Given the description of an element on the screen output the (x, y) to click on. 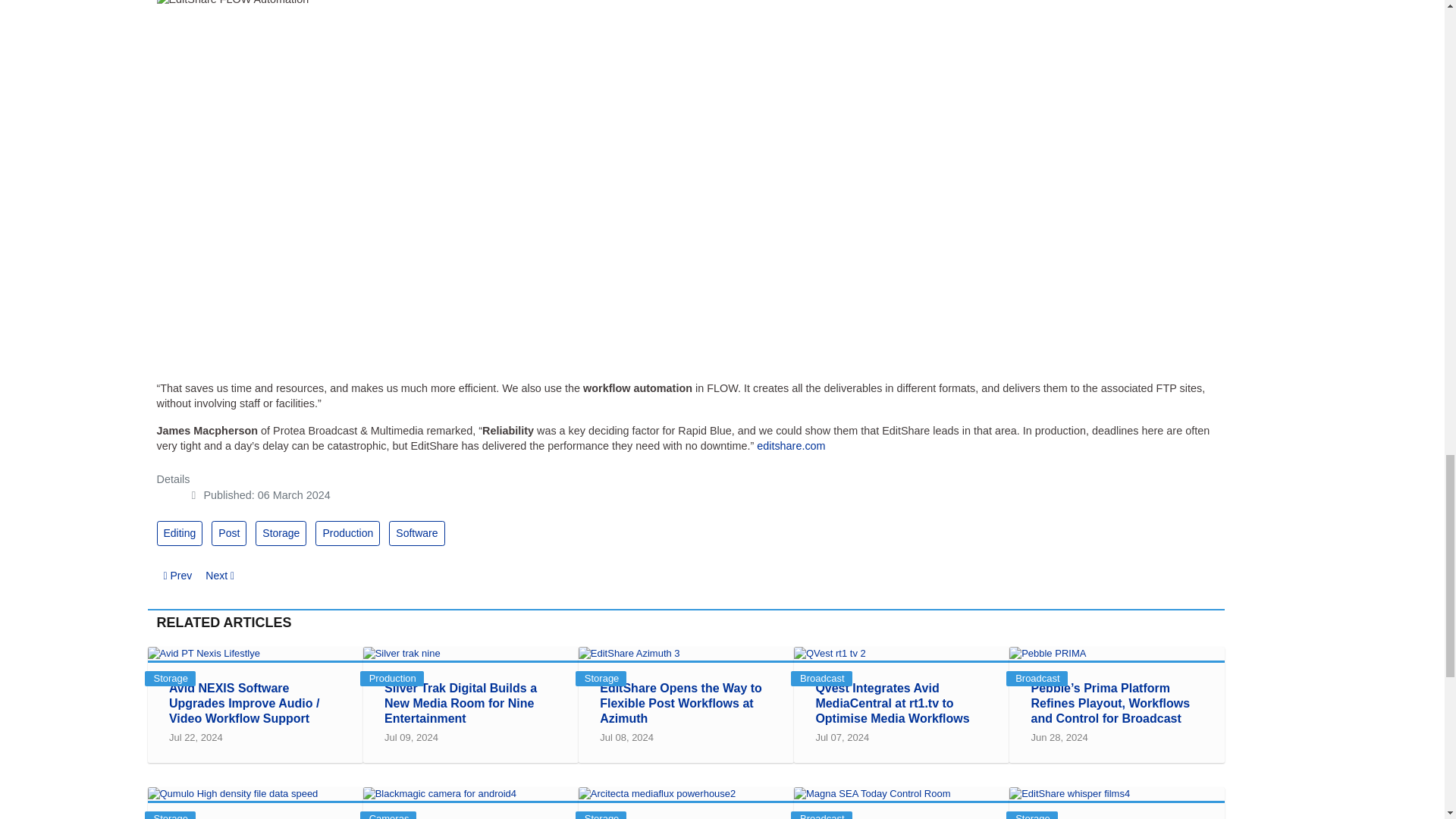
Editing (178, 533)
Software (416, 533)
Storage (280, 533)
editshare.com (791, 445)
Post (228, 533)
